Given the description of an element on the screen output the (x, y) to click on. 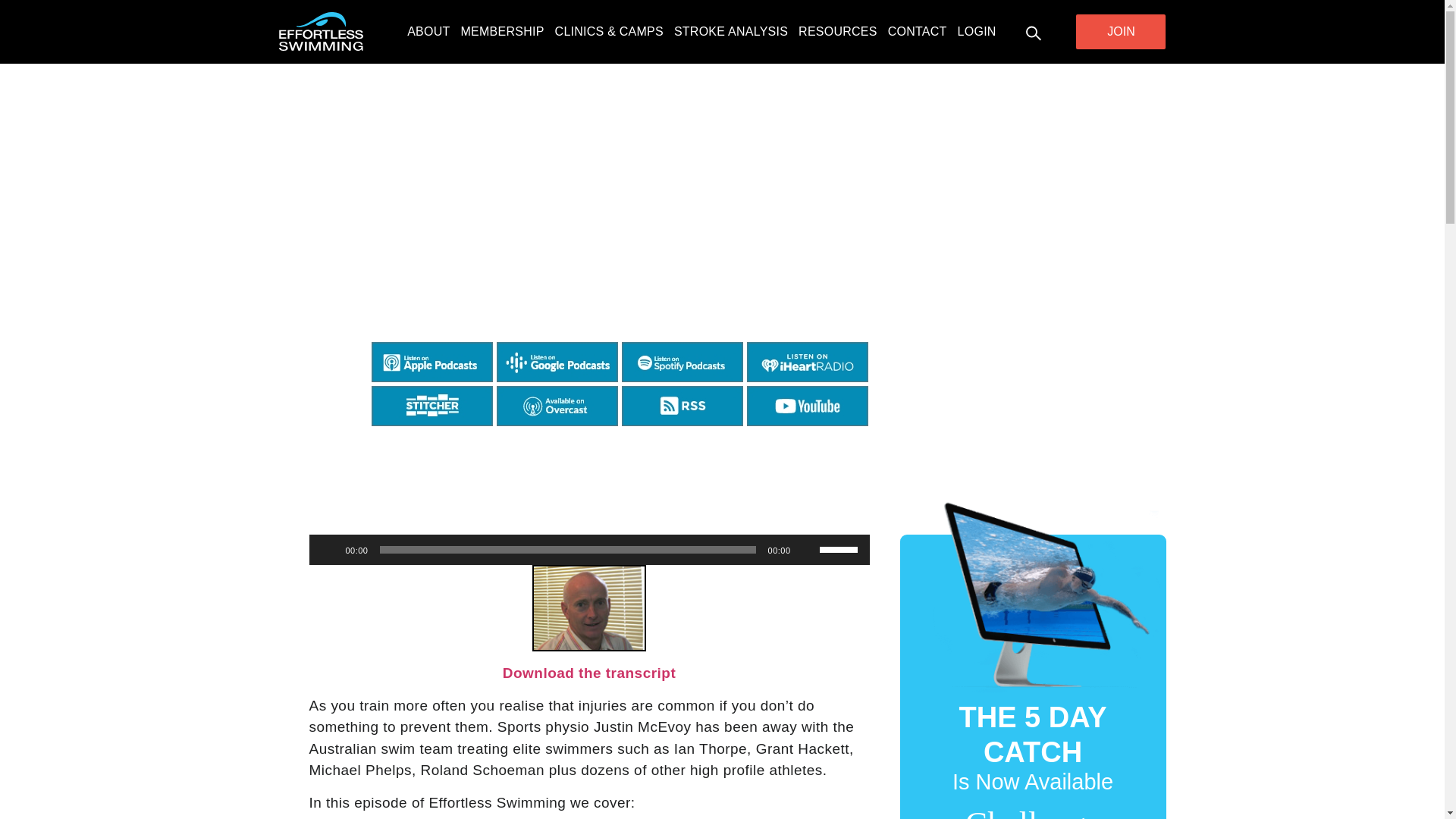
MEMBERSHIP (502, 31)
Justin-McEvoy (589, 608)
Play (328, 549)
LOGIN (976, 31)
ABOUT (428, 31)
Mute (806, 549)
RESOURCES (837, 31)
CONTACT (917, 31)
STROKE ANALYSIS (730, 31)
JOIN (1120, 31)
